Given the description of an element on the screen output the (x, y) to click on. 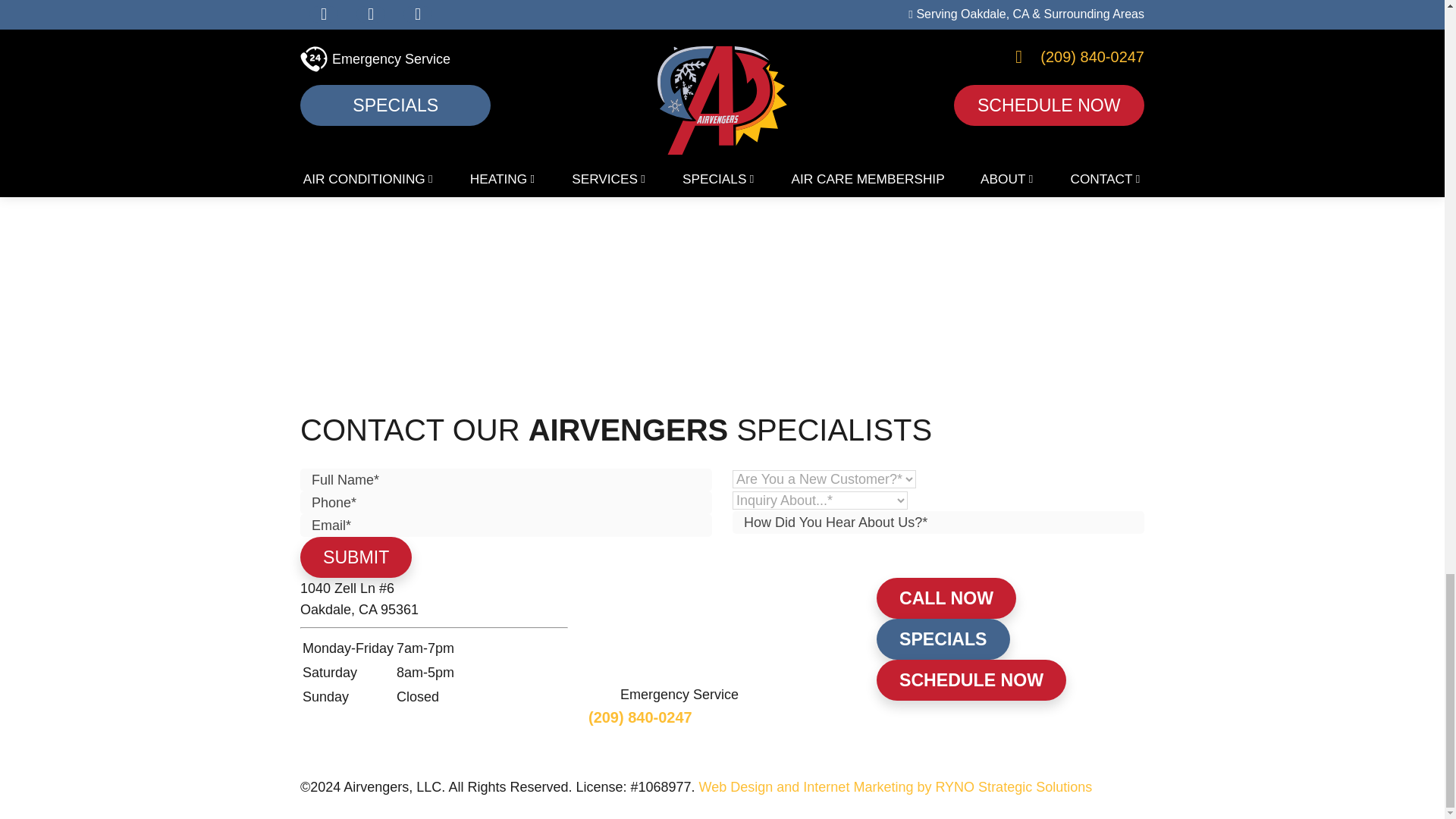
Submit (355, 557)
Airvengers, LLC (652, 629)
